Given the description of an element on the screen output the (x, y) to click on. 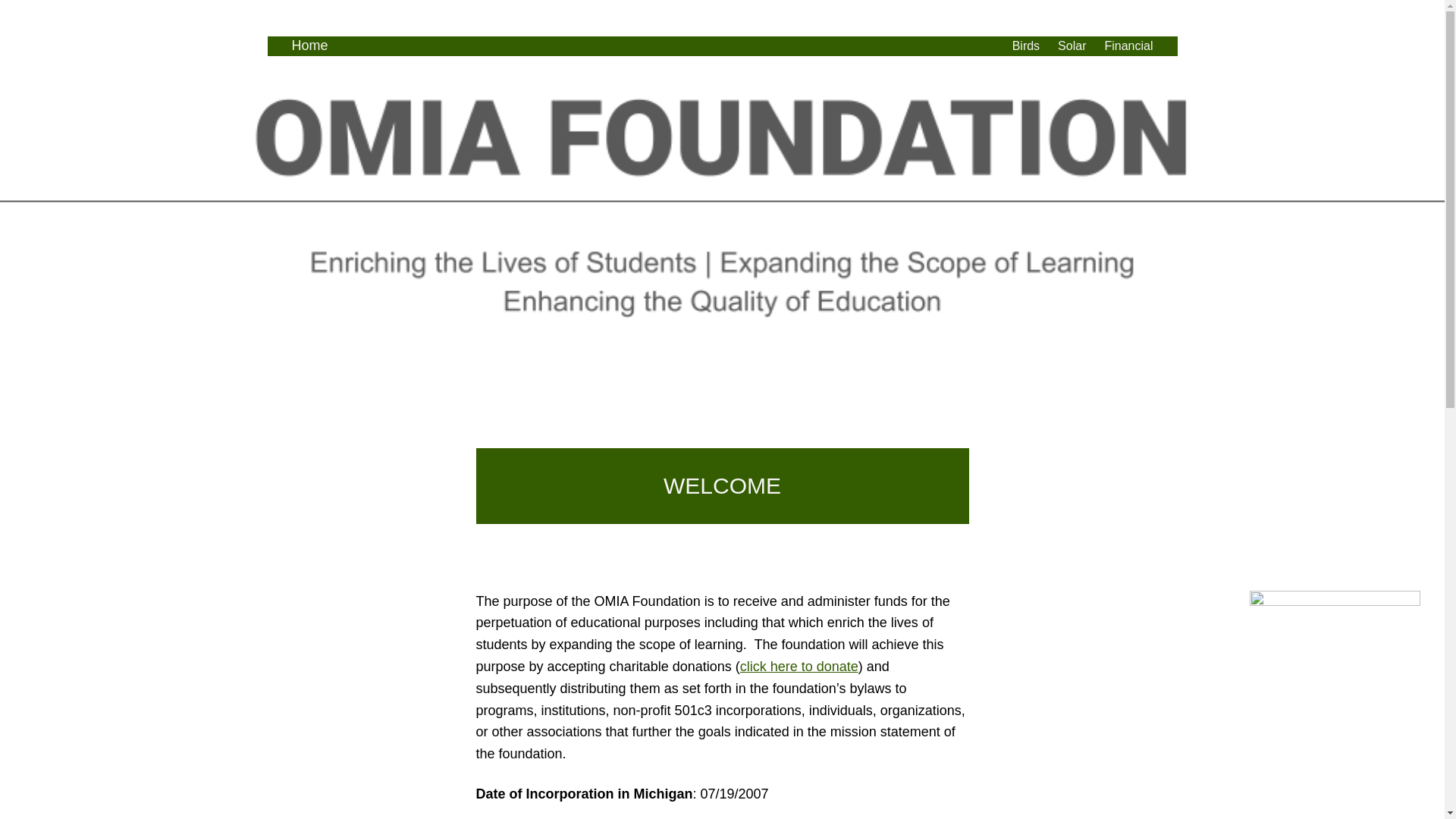
Birds (1025, 46)
click here to donate (799, 666)
Financial (1128, 46)
Home (309, 45)
Solar (1072, 46)
